Given the description of an element on the screen output the (x, y) to click on. 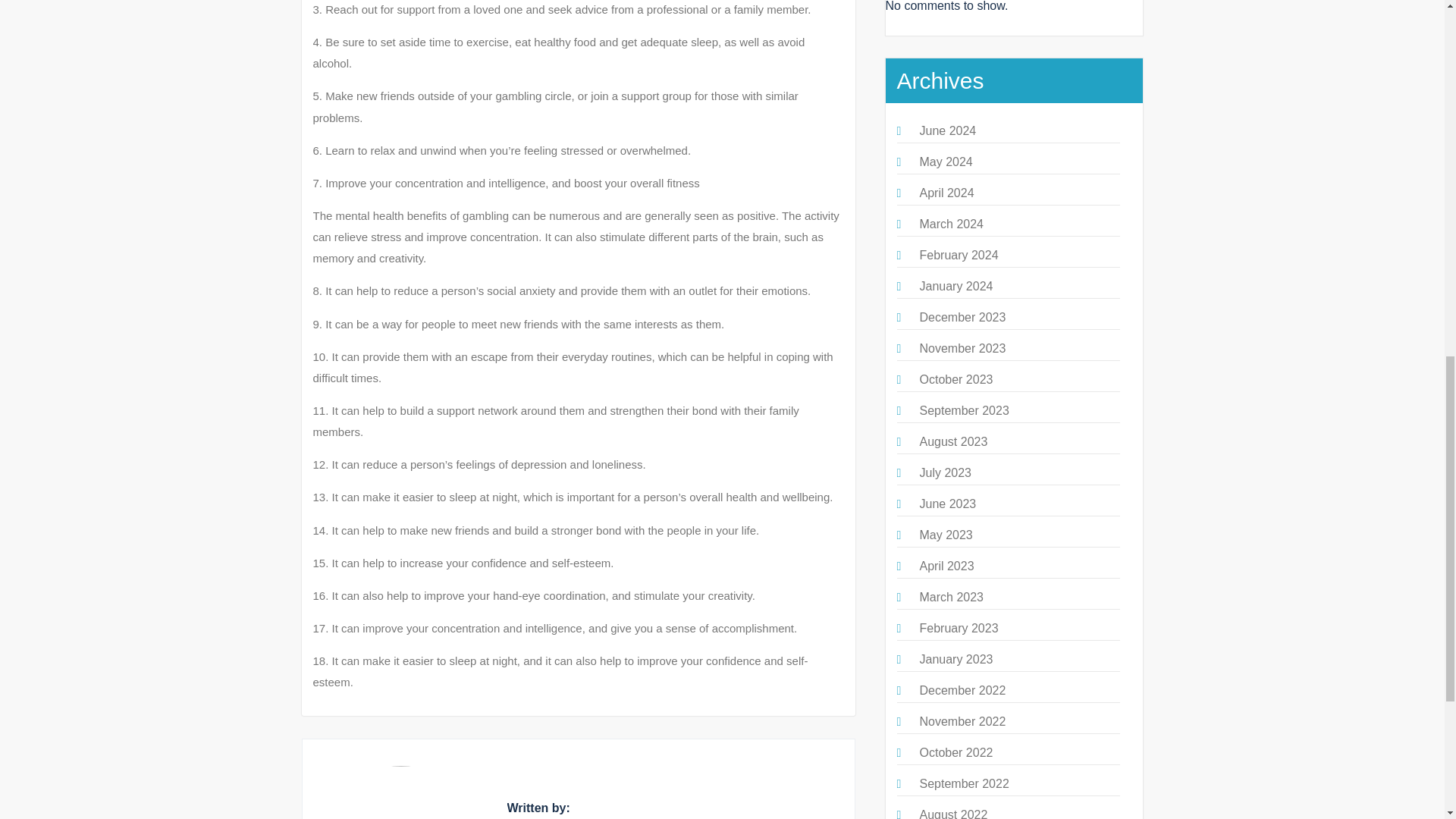
April 2024 (946, 192)
October 2023 (955, 379)
January 2024 (955, 286)
March 2024 (951, 223)
September 2023 (963, 410)
January 2023 (955, 658)
September 2022 (963, 783)
July 2023 (944, 472)
August 2023 (952, 440)
May 2024 (945, 161)
October 2022 (955, 752)
August 2022 (952, 813)
May 2023 (945, 534)
April 2023 (946, 565)
November 2023 (962, 348)
